Given the description of an element on the screen output the (x, y) to click on. 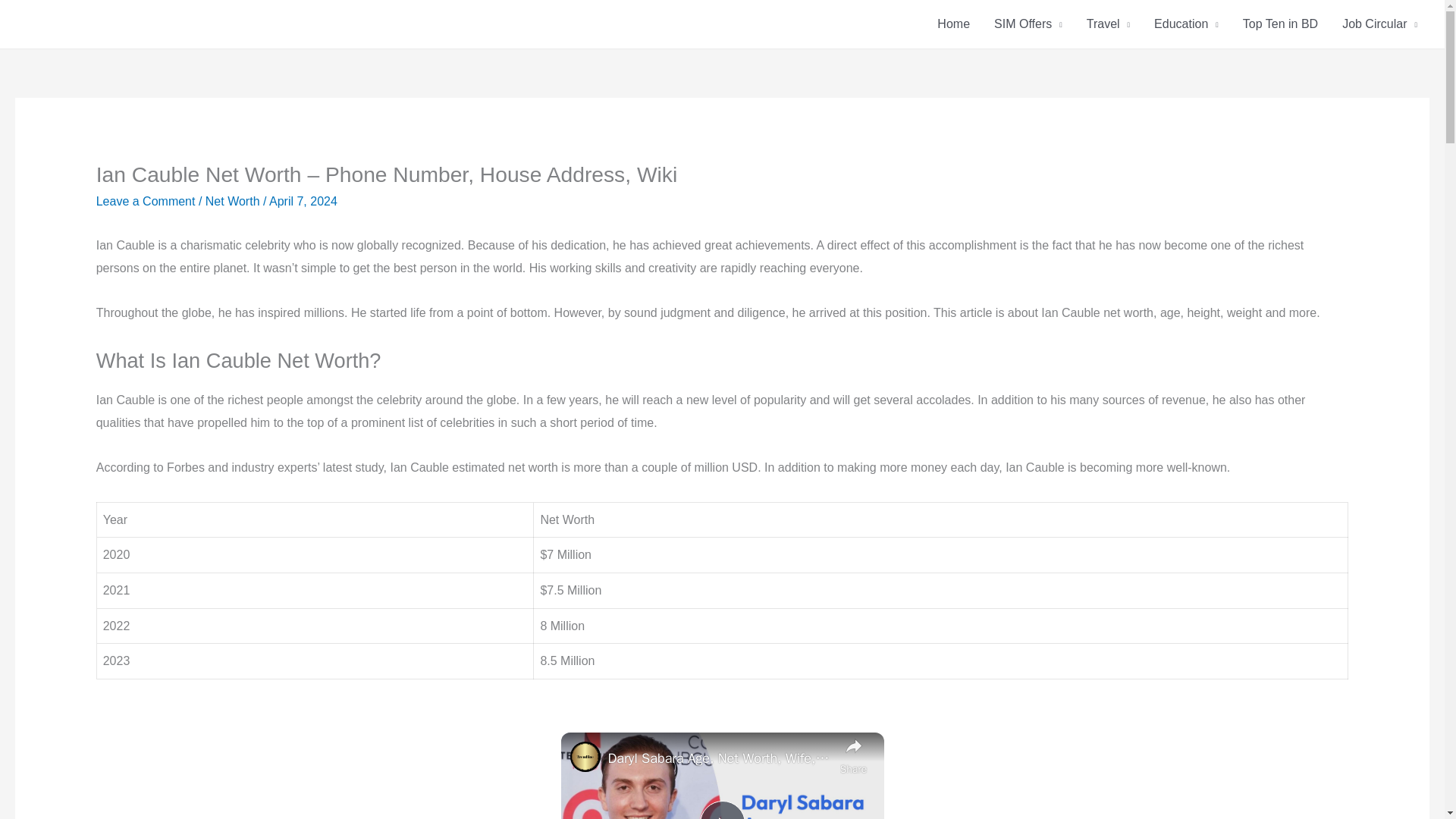
Travel (1107, 24)
Play Video (721, 809)
Net Worth (232, 201)
Job Circular (1379, 24)
Leave a Comment (145, 201)
Education (1185, 24)
SIM Offers (1027, 24)
Home (952, 24)
Top Ten in BD (1280, 24)
Play Video (721, 809)
